Given the description of an element on the screen output the (x, y) to click on. 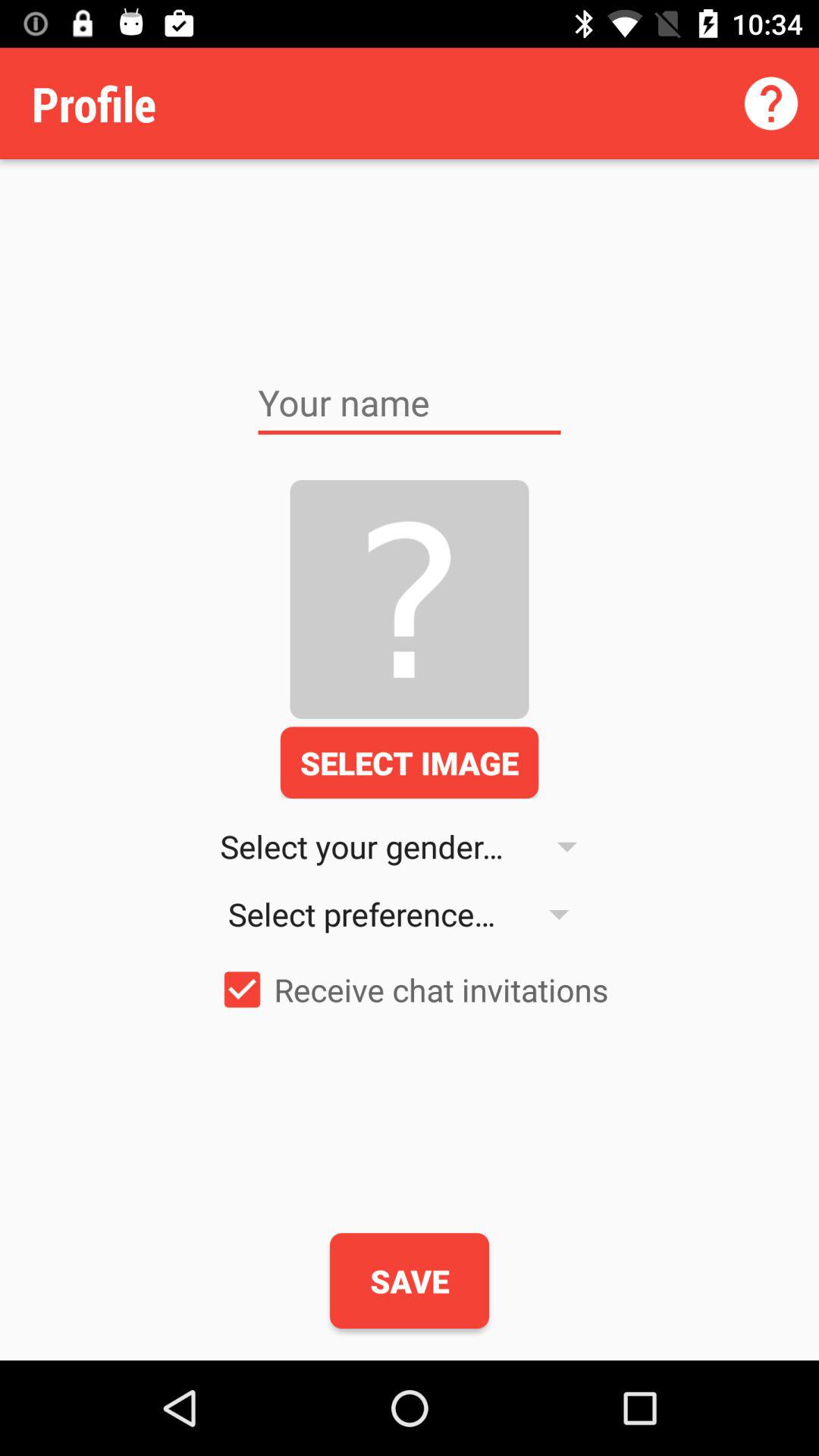
click select image (409, 762)
